Given the description of an element on the screen output the (x, y) to click on. 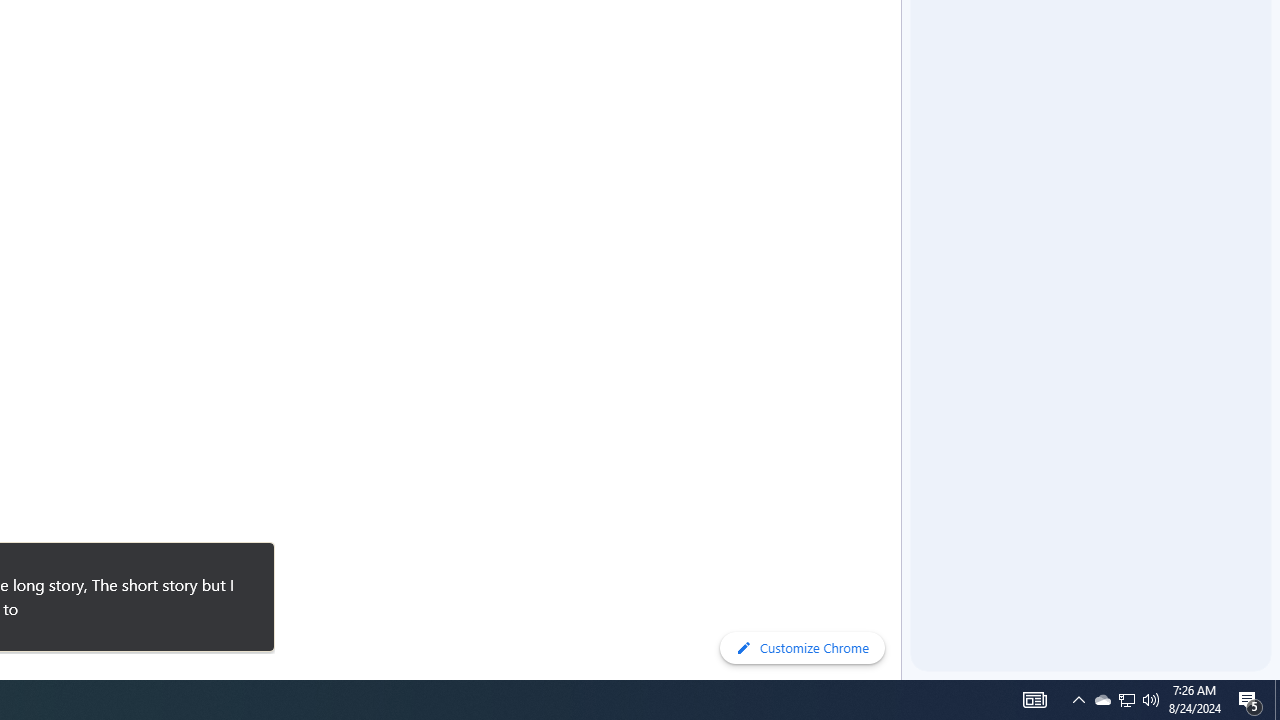
Customize Chrome (801, 647)
Side Panel Resize Handle (905, 39)
